Given the description of an element on the screen output the (x, y) to click on. 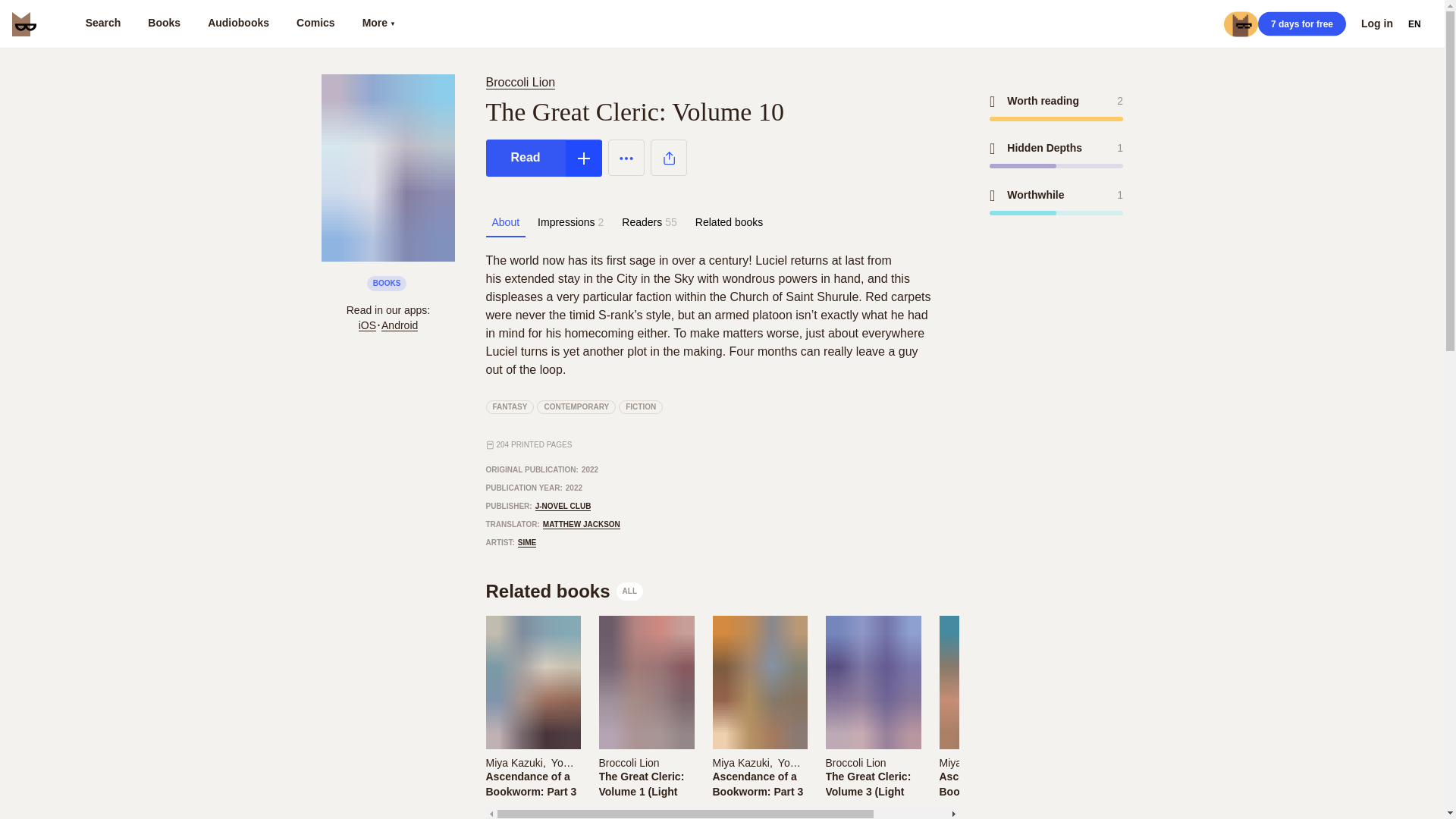
Miya Kazuki (967, 762)
Related books (563, 591)
FANTASY (729, 222)
Miya Kazuki, You Shiina, quof, Kieran Redgewell (509, 407)
Broccoli Lion (759, 762)
Broccoli Lion (855, 762)
About (519, 82)
Broccoli Lion (504, 222)
Ascendance of a Bookworm: Part 1 Volume 1 (645, 762)
Audiobooks (985, 784)
7 days for free (237, 24)
Ascendance of a Bookworm: Part 1 Volume 1 (1301, 23)
